Given the description of an element on the screen output the (x, y) to click on. 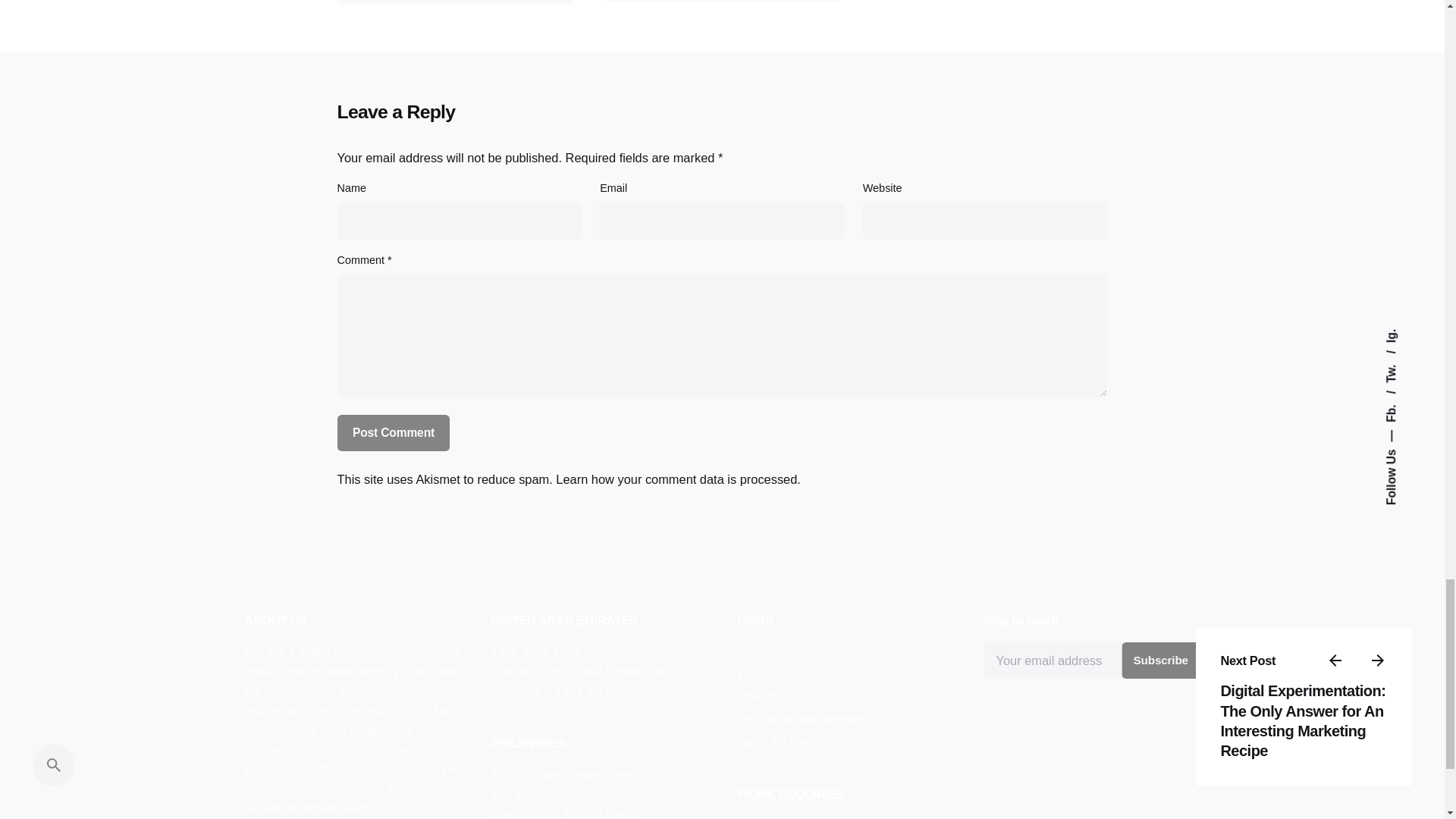
Subscribe (1160, 660)
Subscribe (1160, 660)
Learn how your comment data is processed (676, 479)
Home (753, 673)
Get Started (767, 651)
Post Comment (393, 432)
Reputation Management (803, 718)
Post Comment (393, 432)
Markathon Labs (780, 696)
